Given the description of an element on the screen output the (x, y) to click on. 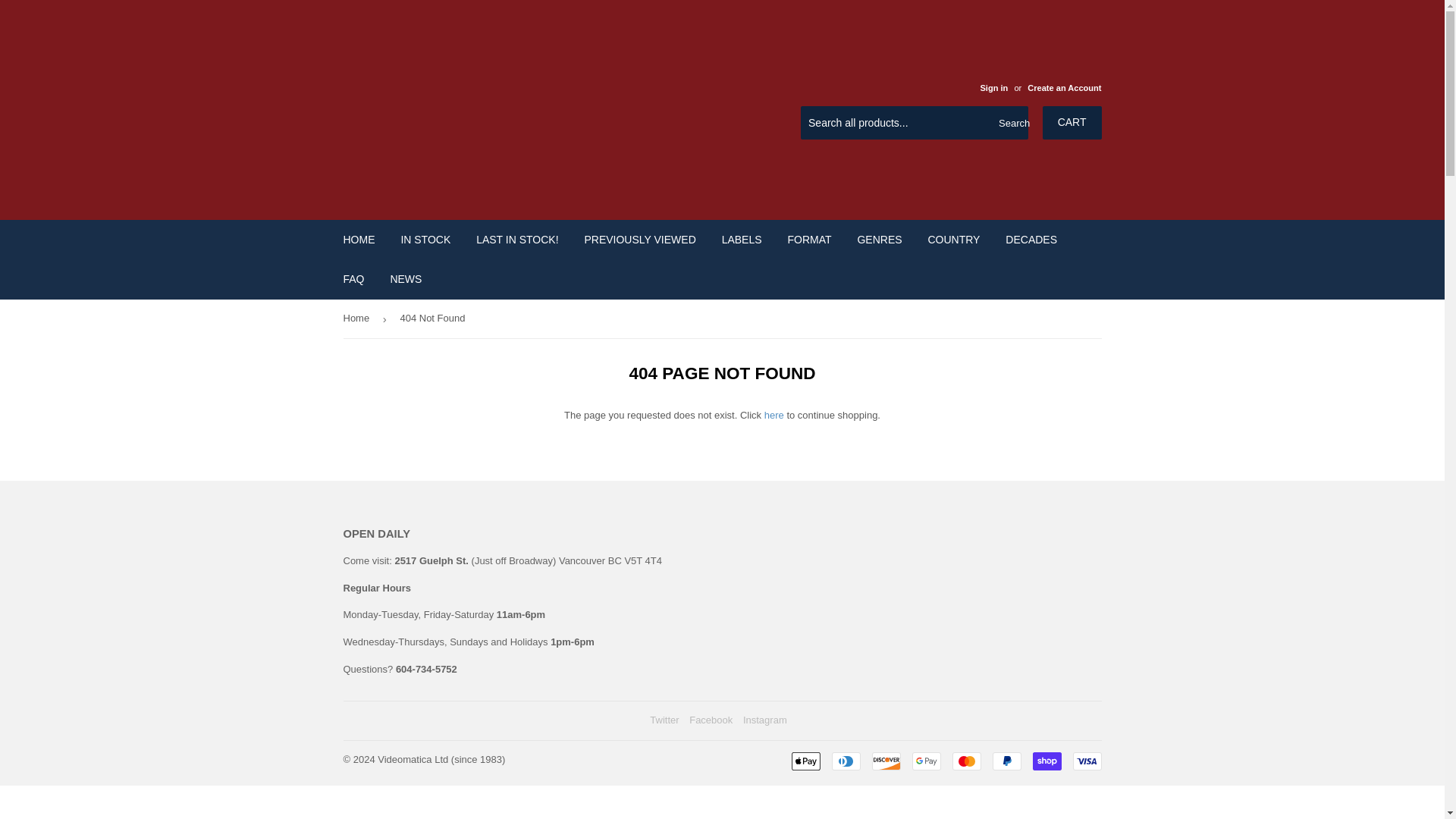
PayPal (1005, 761)
Discover (886, 761)
Mastercard (966, 761)
Diners Club (845, 761)
CART (1072, 122)
Sign in (993, 87)
Google Pay (925, 761)
Apple Pay (806, 761)
Shop Pay (1046, 761)
Visa (1085, 761)
